Given the description of an element on the screen output the (x, y) to click on. 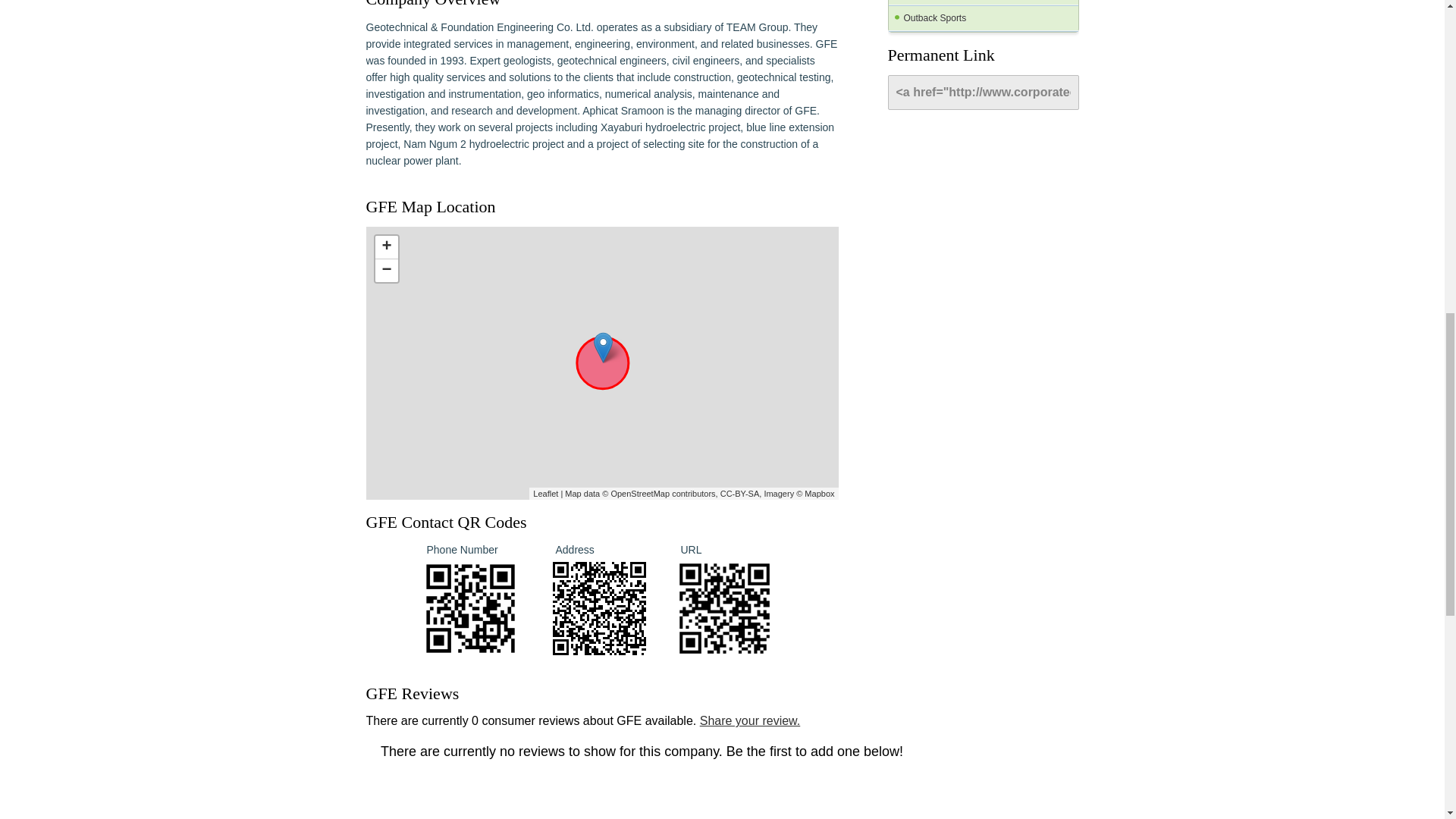
Share your review. (750, 720)
Zoom out (385, 270)
A JS library for interactive maps (544, 492)
CC-BY-SA (740, 492)
Zoom in (385, 247)
Outback Sports (983, 18)
Leaflet (544, 492)
Mapbox (819, 492)
Mr. Transmission (983, 2)
OpenStreetMap (639, 492)
